Given the description of an element on the screen output the (x, y) to click on. 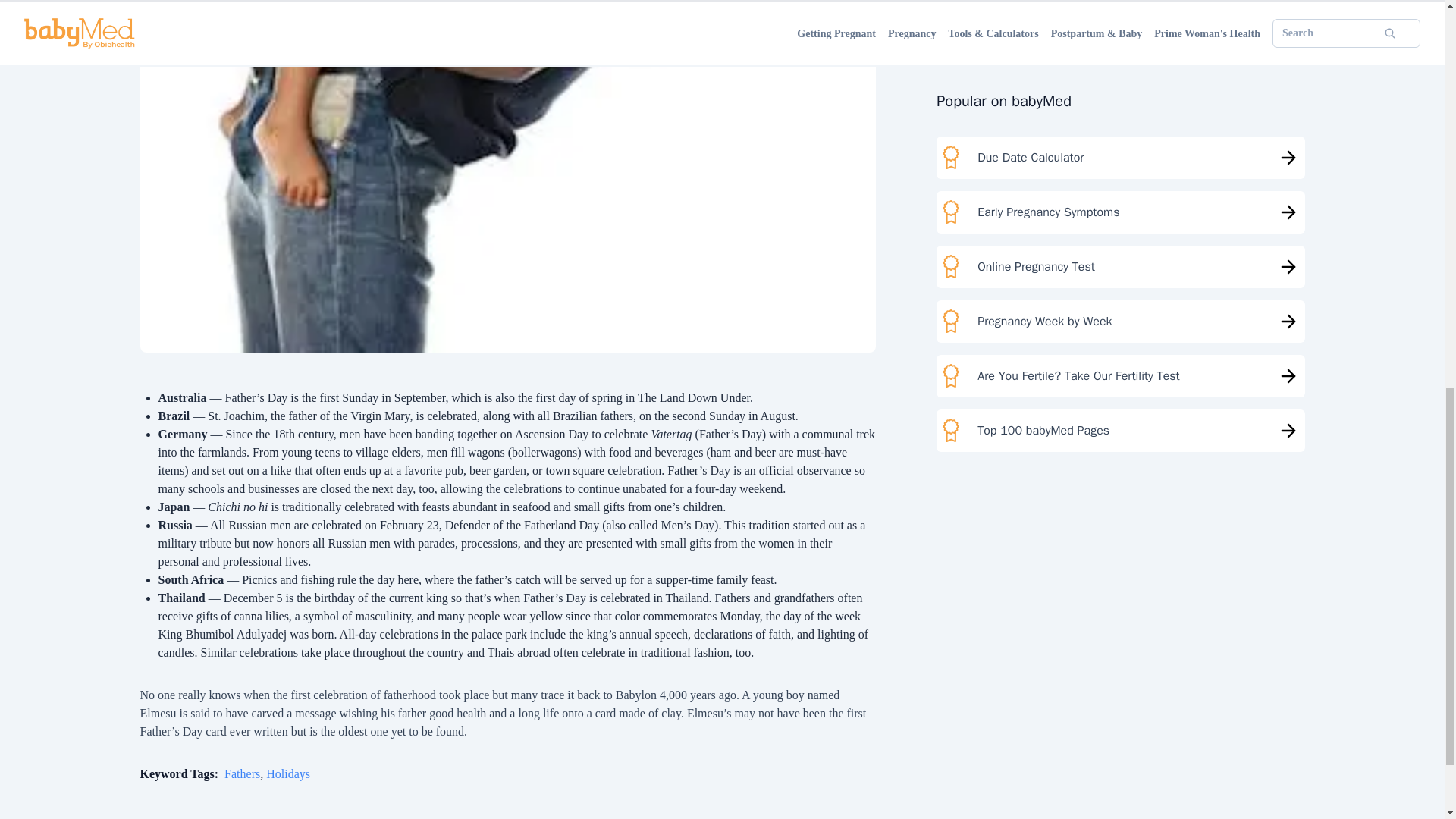
Keyword Tags:Fathers (199, 773)
Holidays (288, 773)
